Given the description of an element on the screen output the (x, y) to click on. 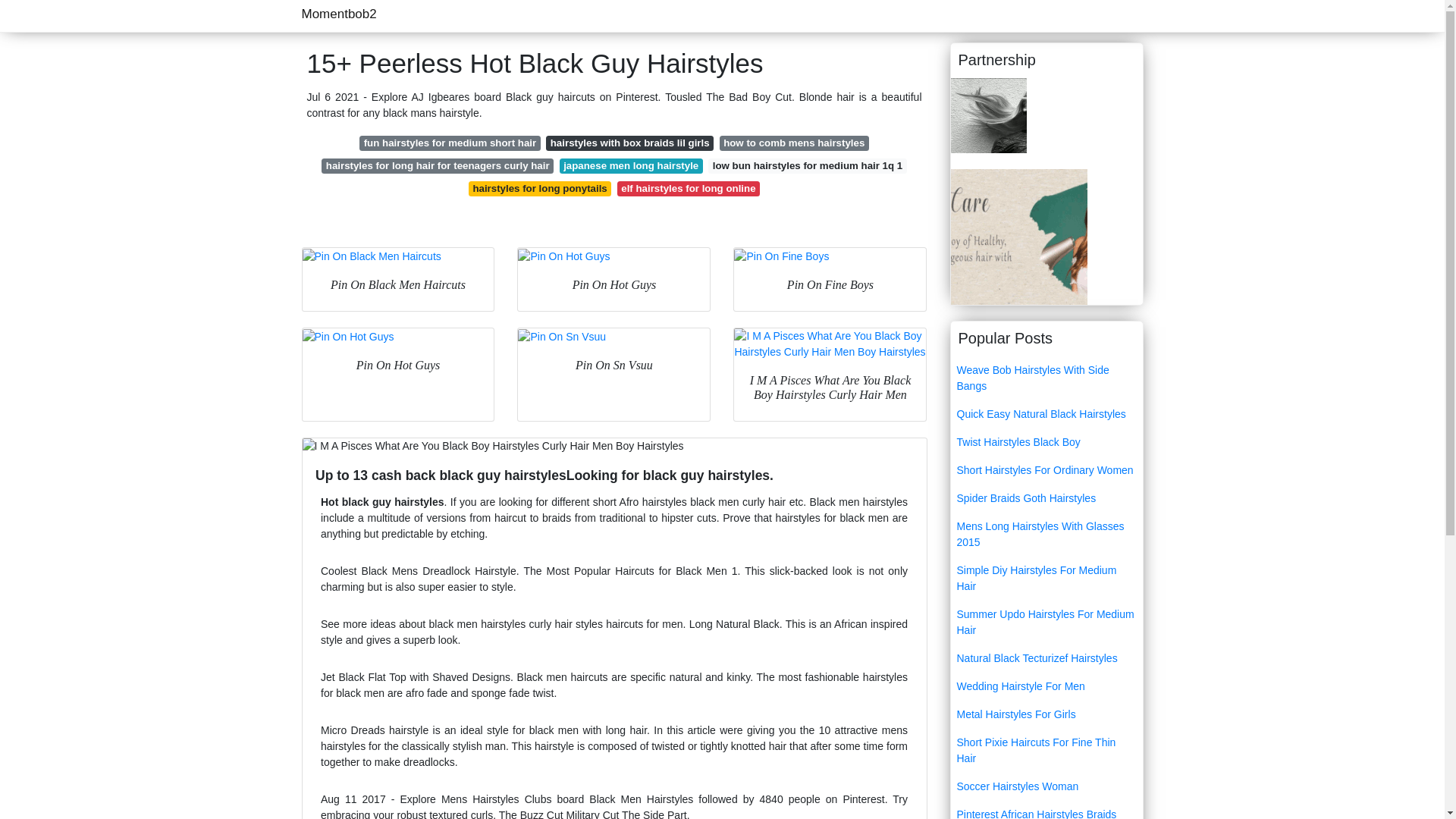
Wedding Hairstyle For Men (1046, 686)
low bun hairstyles for medium hair 1q 1 (806, 165)
Weave Bob Hairstyles With Side Bangs (1046, 378)
Short Pixie Haircuts For Fine Thin Hair (1046, 750)
hairstyles with box braids lil girls (629, 142)
Metal Hairstyles For Girls (1046, 714)
Simple Diy Hairstyles For Medium Hair (1046, 578)
Summer Updo Hairstyles For Medium Hair (1046, 622)
Momentbob2 (339, 13)
Soccer Hairstyles Woman (1046, 786)
Short Hairstyles For Ordinary Women (1046, 470)
Quick Easy Natural Black Hairstyles (1046, 414)
hairstyles for long ponytails (539, 188)
Taskpost3 (988, 114)
japanese men long hairstyle (631, 165)
